Given the description of an element on the screen output the (x, y) to click on. 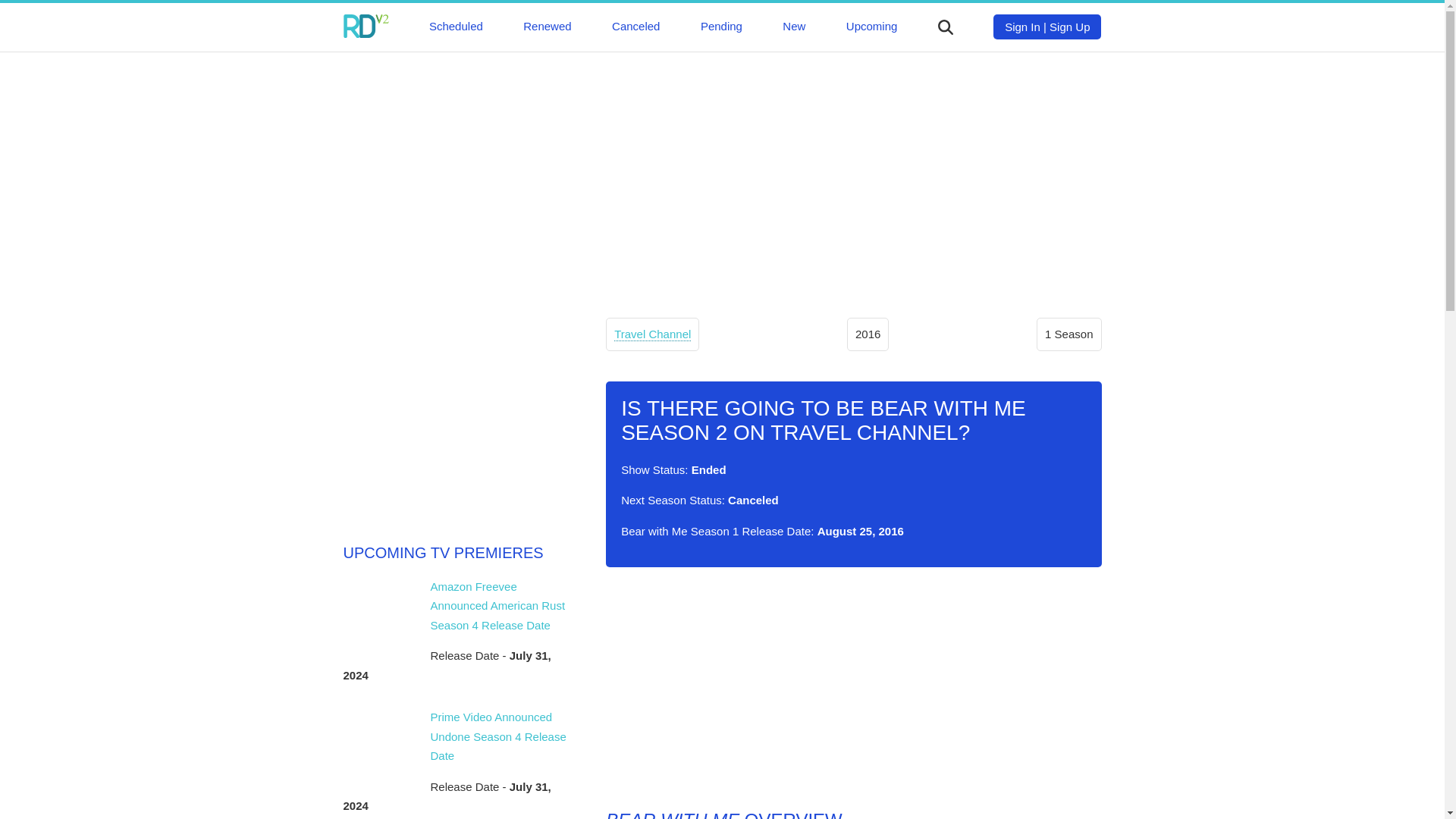
Upcoming (871, 25)
Travel Channel (652, 334)
Advertisement (852, 688)
Sign Up (1069, 26)
Renewed (546, 25)
Amazon Freevee Announced American Rust Season 4 Release Date (498, 605)
Scheduled (456, 25)
New (794, 25)
Canceled (635, 25)
Sign In (1022, 26)
Pending (721, 25)
